Given the description of an element on the screen output the (x, y) to click on. 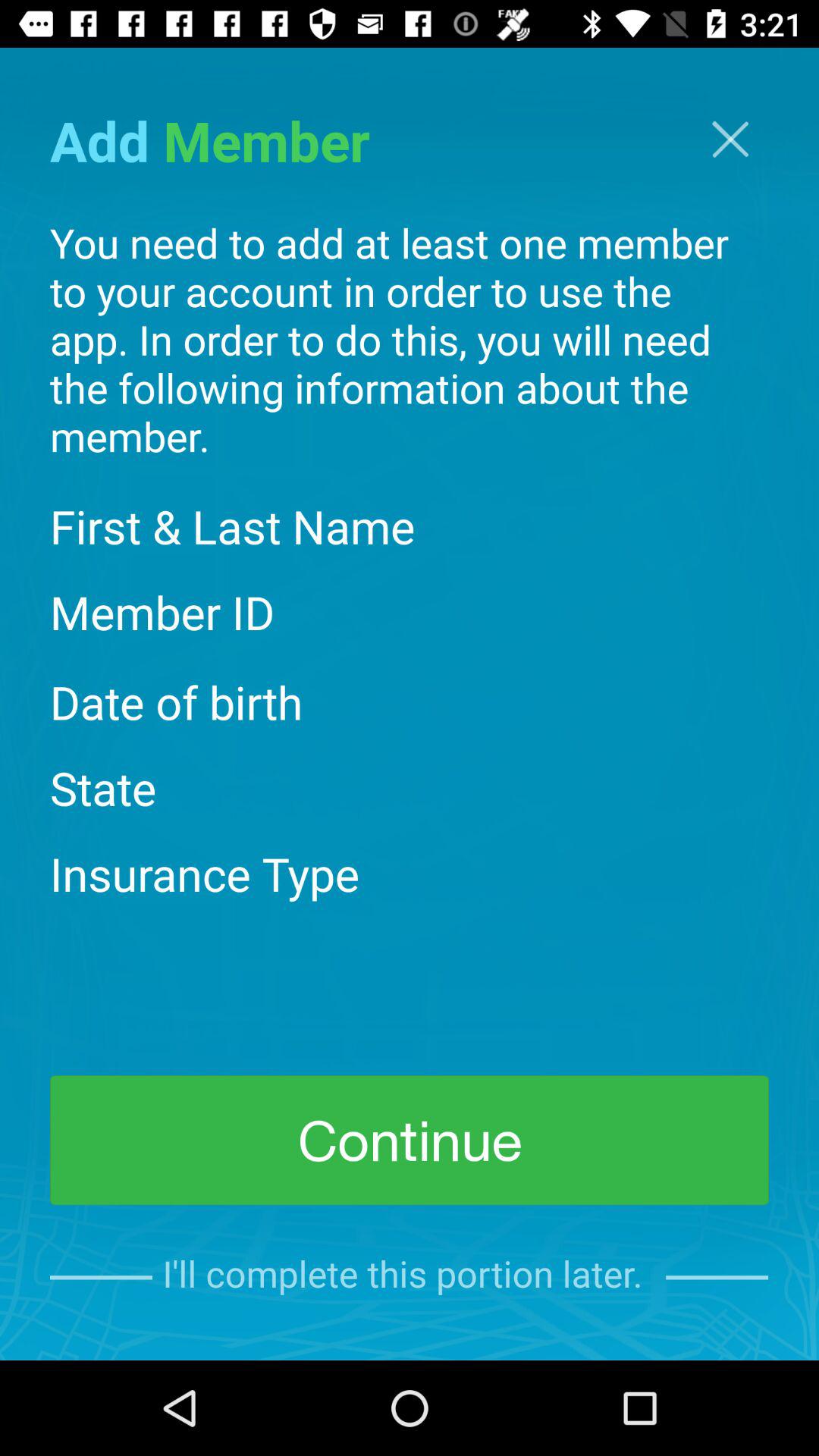
turn off icon above i ll complete icon (409, 1140)
